Given the description of an element on the screen output the (x, y) to click on. 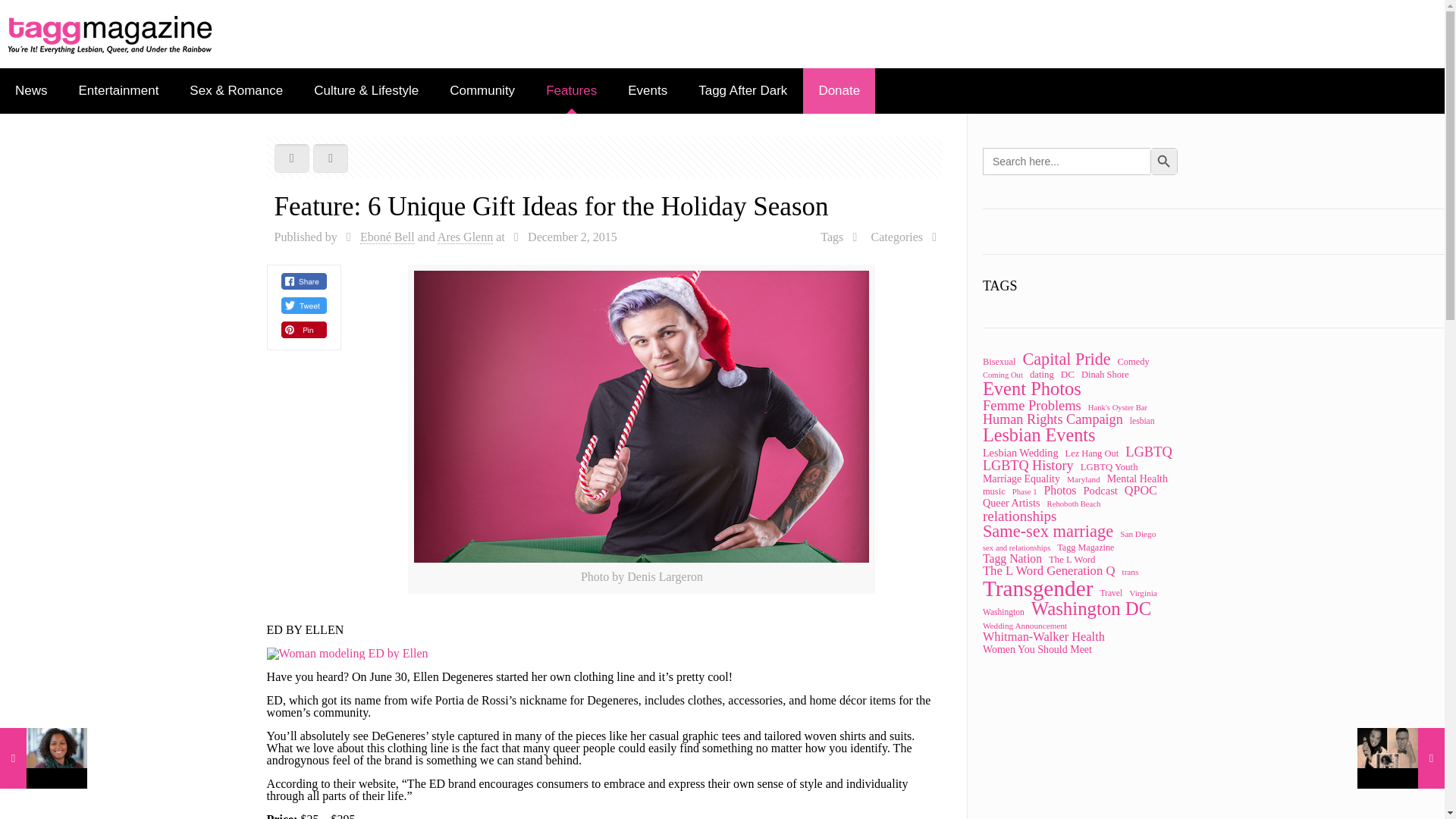
Tagg Magazine (110, 33)
Entertainment (119, 90)
Tagg After Dark (742, 90)
Community (482, 90)
News (32, 90)
Events (647, 90)
Posts by Ares Glenn (465, 237)
Donate (839, 90)
Features (571, 90)
